Given the description of an element on the screen output the (x, y) to click on. 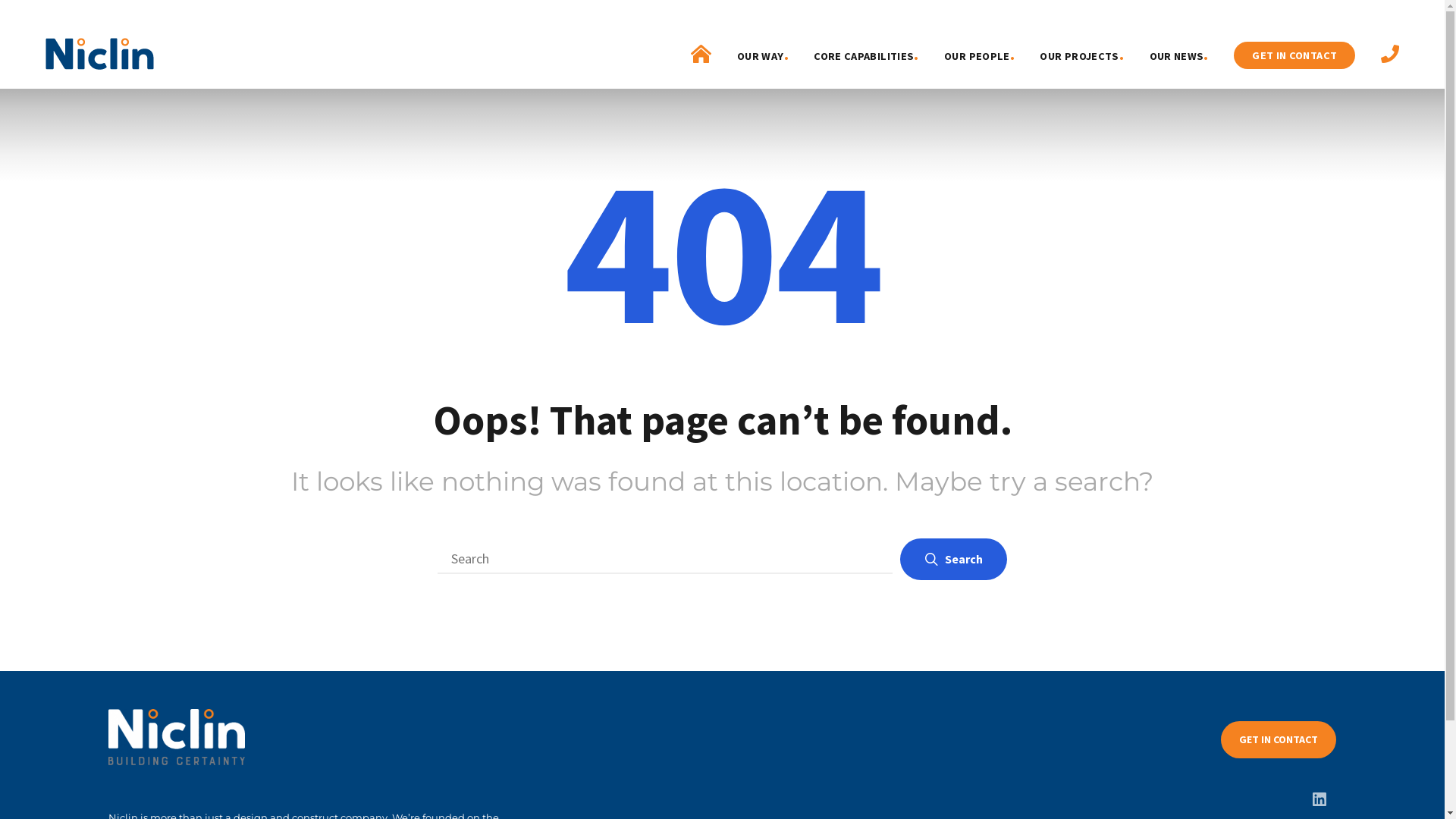
GET IN CONTACT Element type: text (1294, 55)
OUR NEWS. Element type: text (1178, 54)
OUR PEOPLE. Element type: text (979, 54)
GET IN CONTACT Element type: text (1278, 739)
OUR PROJECTS. Element type: text (1081, 54)
CORE CAPABILITIES. Element type: text (866, 54)
Search Element type: text (953, 559)
OUR WAY. Element type: text (762, 54)
